Given the description of an element on the screen output the (x, y) to click on. 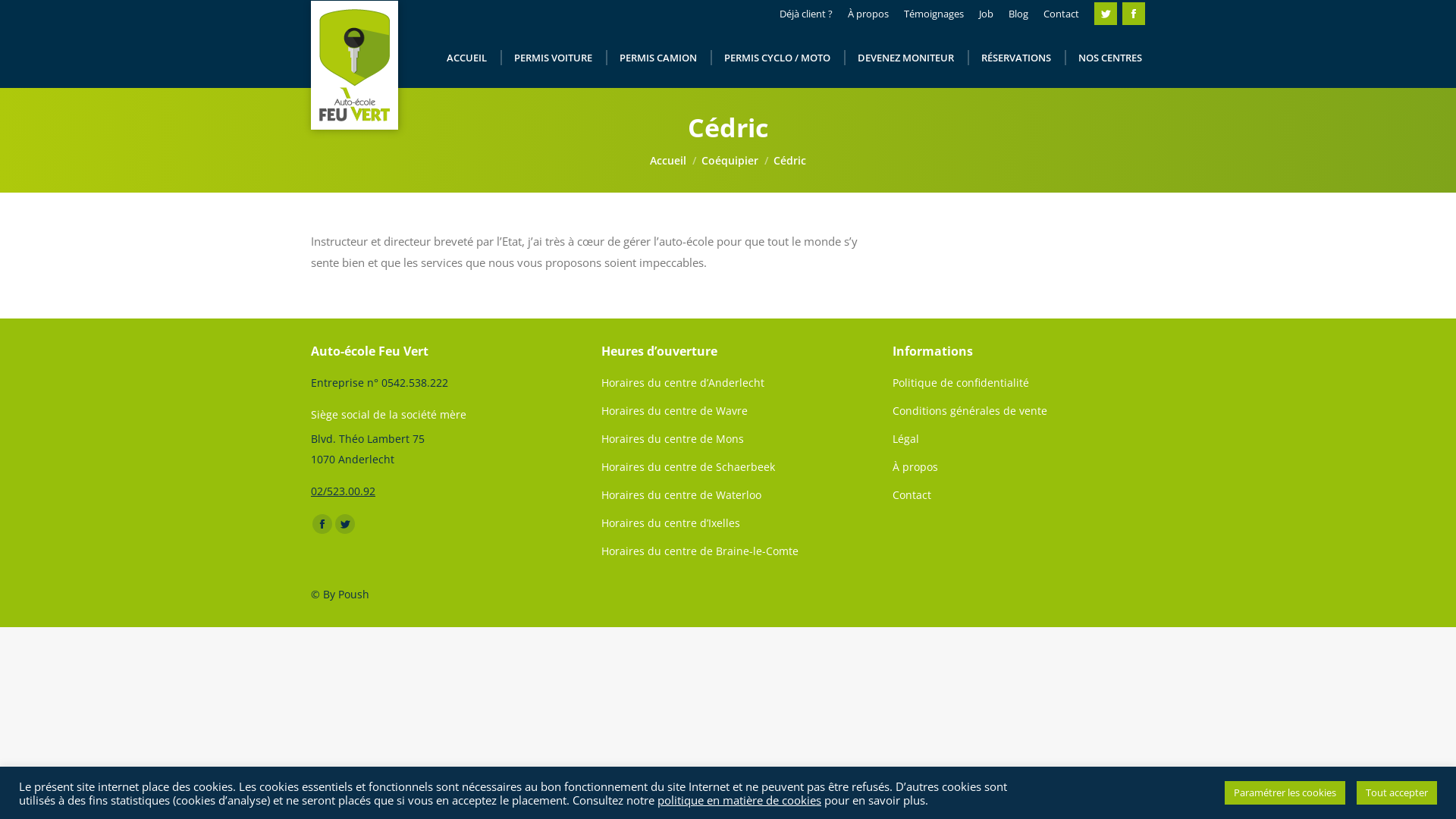
ACCUEIL Element type: text (466, 57)
Contact Element type: text (1061, 13)
Blog Element type: text (1018, 13)
Facebook page opens in new window Element type: text (1133, 13)
Accueil Element type: text (667, 160)
Twitter page opens in new window Element type: text (1105, 13)
DEVENEZ MONITEUR Element type: text (905, 57)
Twitter page opens in new window Element type: text (344, 523)
Facebook page opens in new window Element type: text (322, 523)
02/523.00.92 Element type: text (342, 490)
Contact Element type: text (1018, 494)
Job Element type: text (986, 13)
NOS CENTRES Element type: text (1110, 57)
Tout accepter Element type: text (1396, 792)
PERMIS CYCLO / MOTO Element type: text (777, 57)
Horaires du centre de Braine-le-Comte Element type: text (727, 550)
Horaires du centre de Schaerbeek Element type: text (727, 470)
PERMIS VOITURE Element type: text (553, 57)
PERMIS CAMION Element type: text (657, 57)
Horaires du centre de Mons Element type: text (727, 442)
Horaires du centre de Wavre Element type: text (727, 414)
Horaires du centre de Waterloo Element type: text (727, 498)
